Given the description of an element on the screen output the (x, y) to click on. 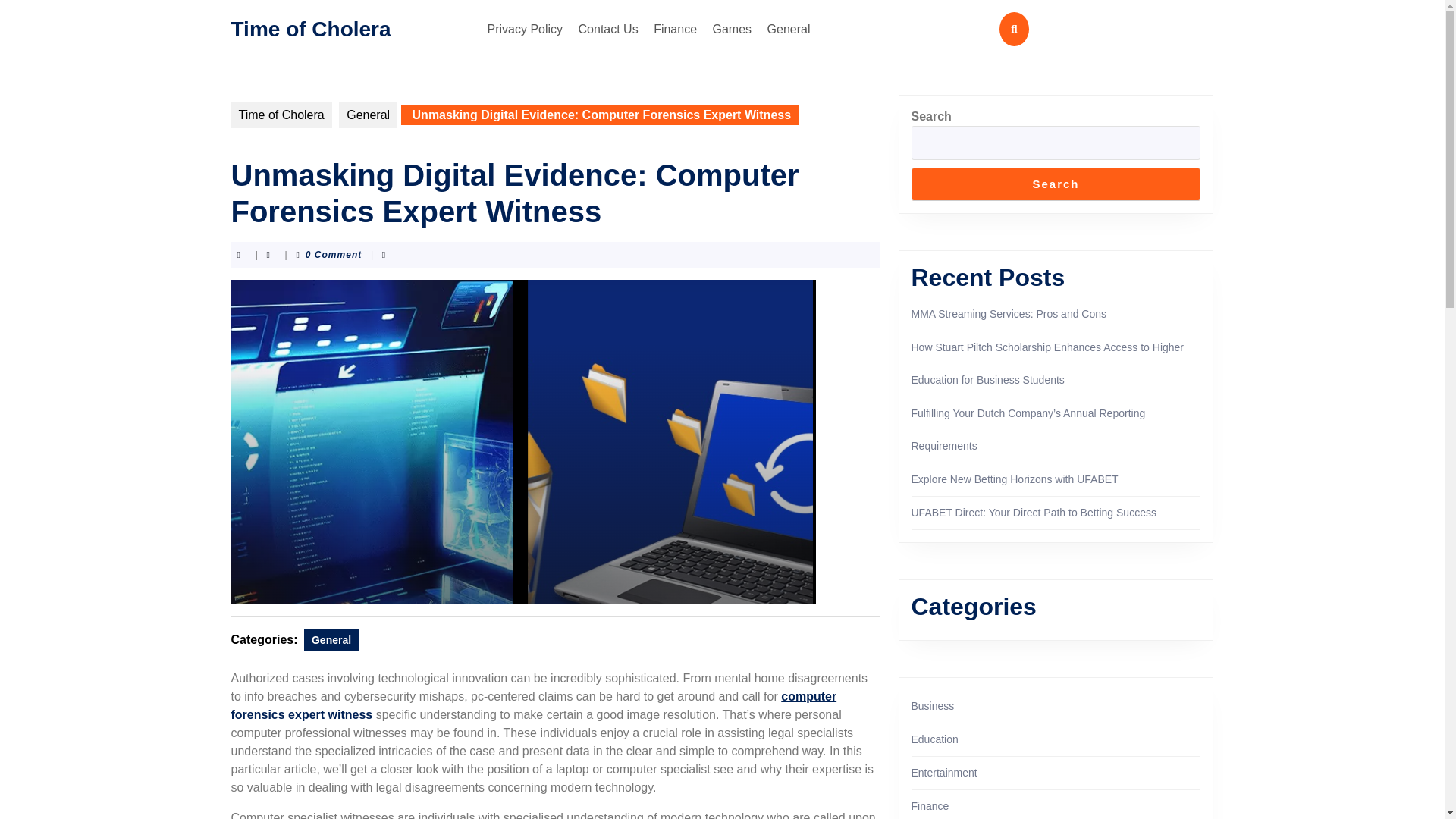
MMA Streaming Services: Pros and Cons (1008, 313)
Contact Us (608, 28)
Games (732, 28)
Time of Cholera (310, 28)
General (788, 28)
General (331, 639)
General (368, 114)
Privacy Policy (524, 28)
Search (1056, 183)
UFABET Direct: Your Direct Path to Betting Success (1033, 512)
Finance (675, 28)
Explore New Betting Horizons with UFABET (1014, 479)
computer forensics expert witness (532, 705)
Business (933, 705)
